Given the description of an element on the screen output the (x, y) to click on. 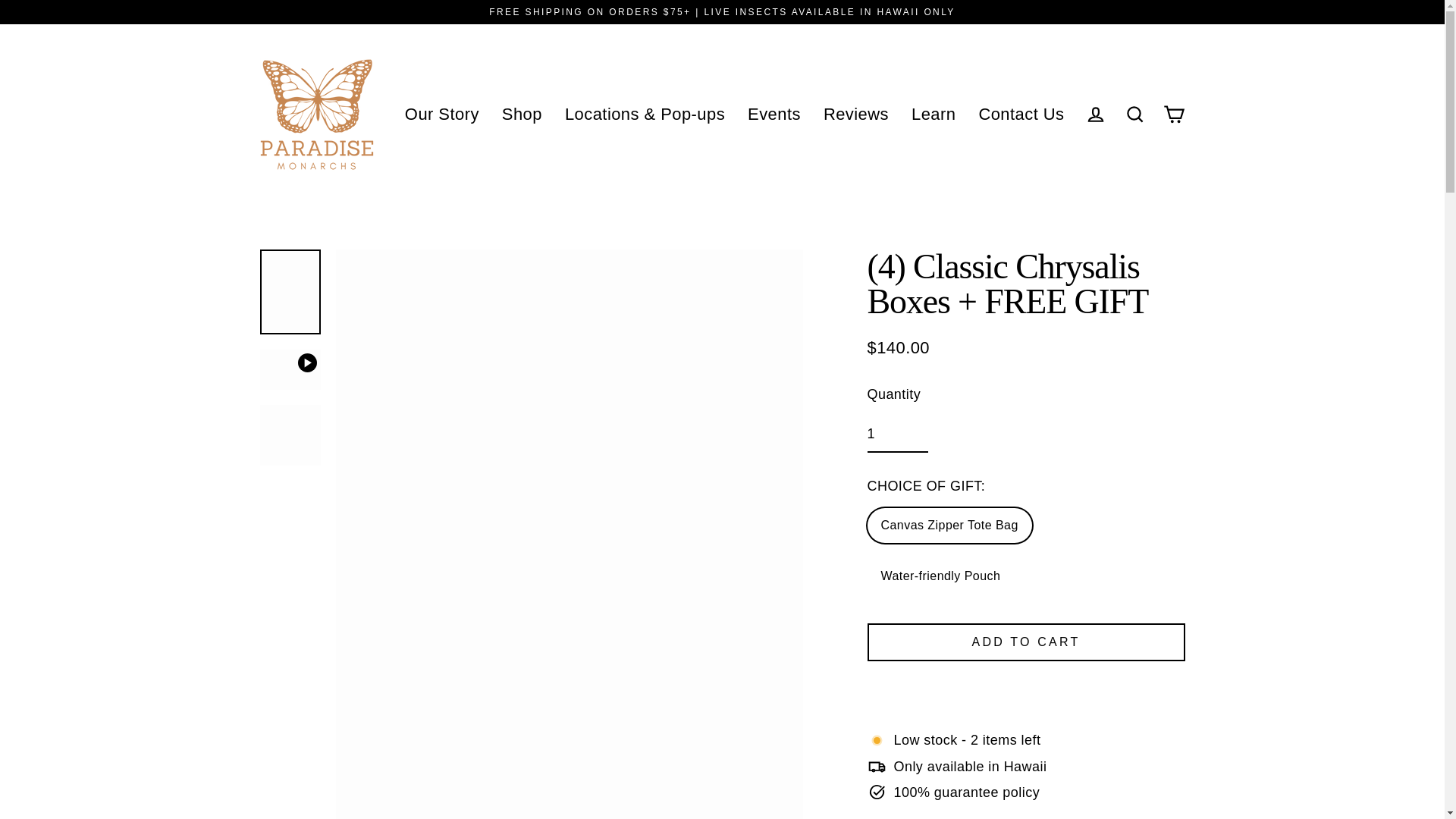
Events (774, 113)
Learn (932, 113)
1 (897, 434)
Shop (521, 113)
Reviews (855, 113)
Our Story (441, 113)
